Given the description of an element on the screen output the (x, y) to click on. 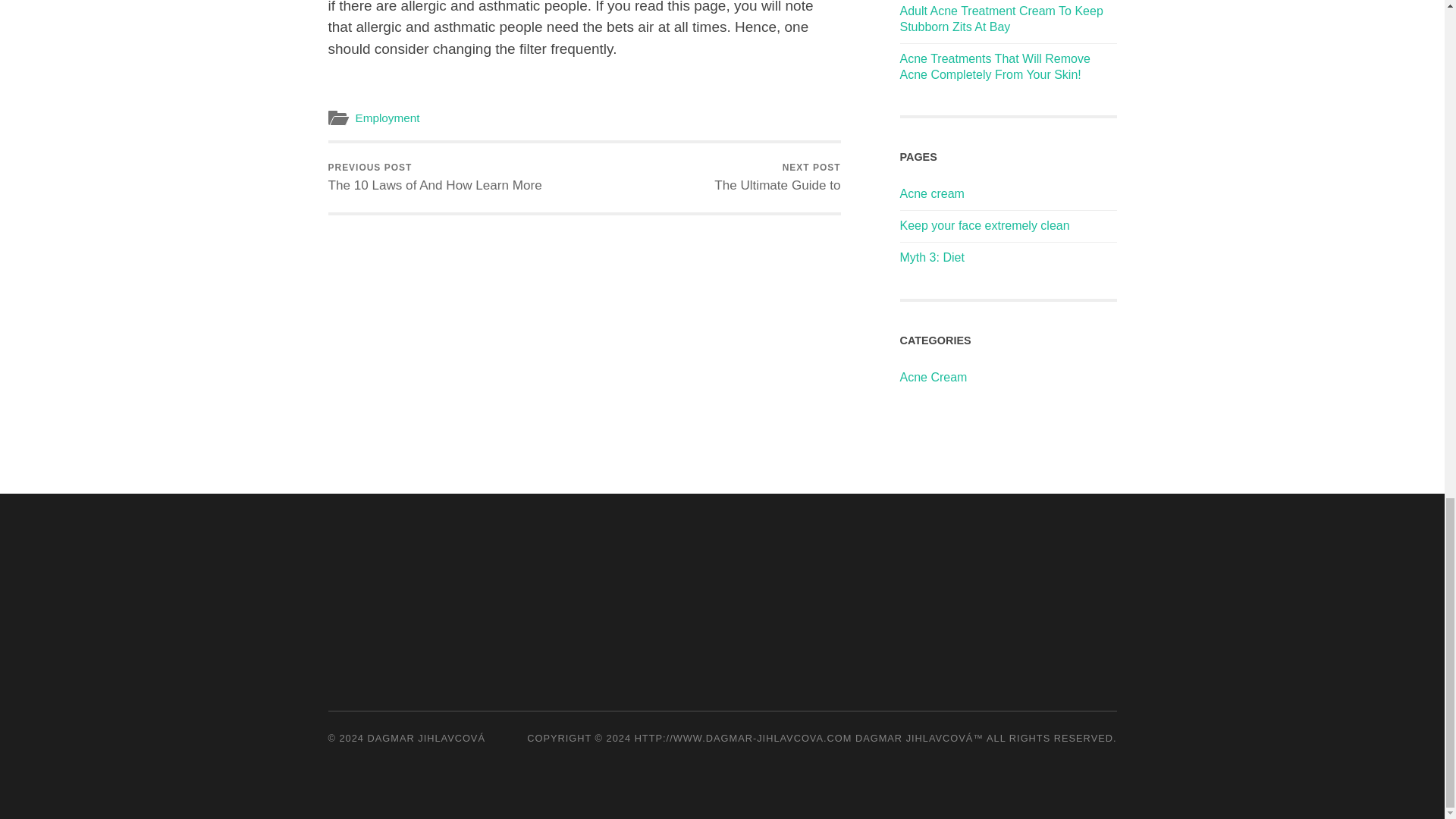
Adult Acne Treatment Cream To Keep Stubborn Zits At Bay (1000, 18)
Employment (387, 117)
Acne cream (777, 177)
Keep your face extremely clean (931, 193)
Acne Cream (983, 225)
Myth 3: Diet (932, 377)
